Given the description of an element on the screen output the (x, y) to click on. 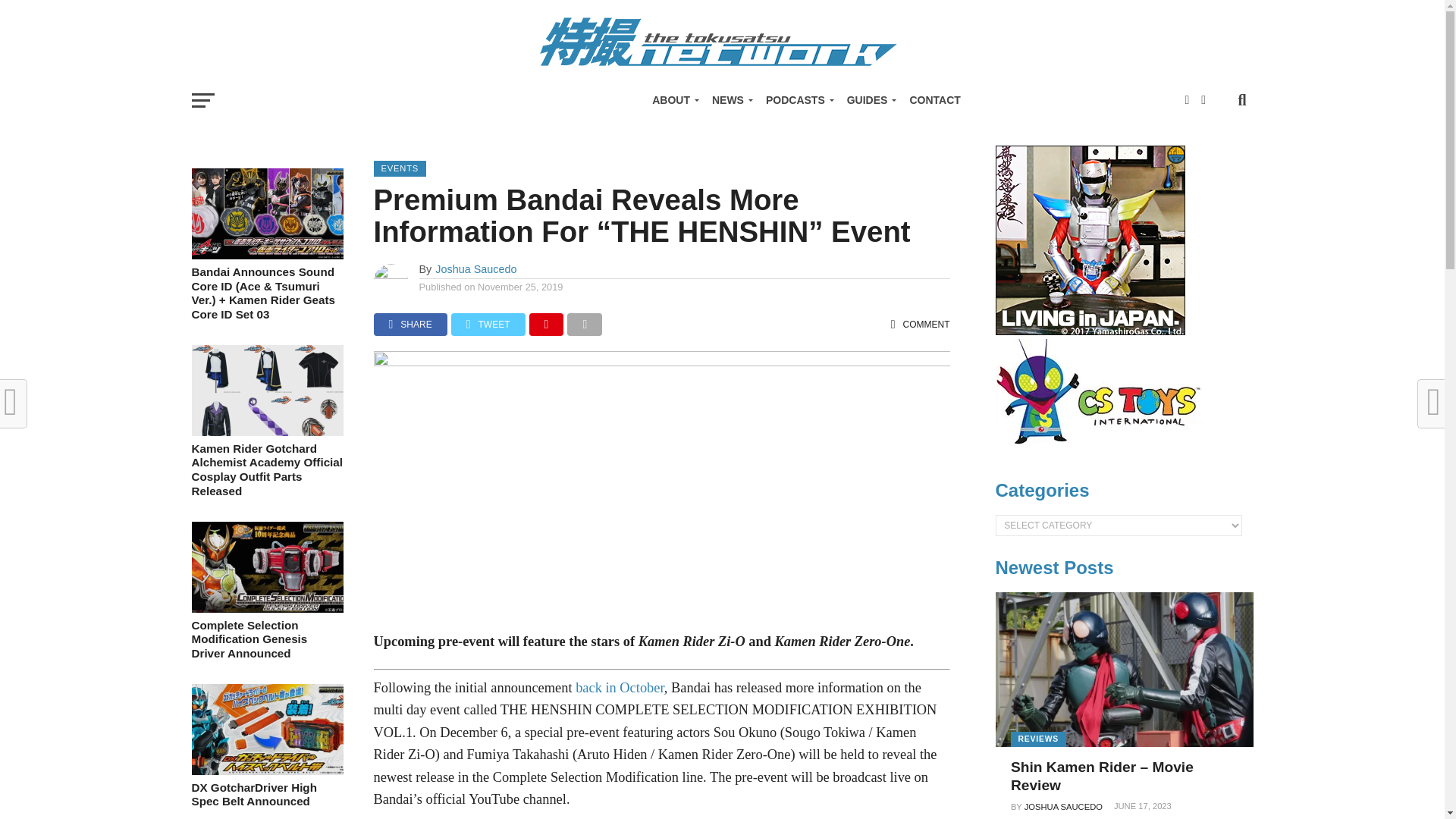
CONTACT (934, 99)
NEWS (730, 99)
ABOUT (673, 99)
Complete Selection Modification Genesis Driver Announced (266, 608)
PODCASTS (797, 99)
GUIDES (869, 99)
DX GotcharDriver High Spec Belt Announced (266, 770)
Posts by Joshua Saucedo (475, 268)
